Given the description of an element on the screen output the (x, y) to click on. 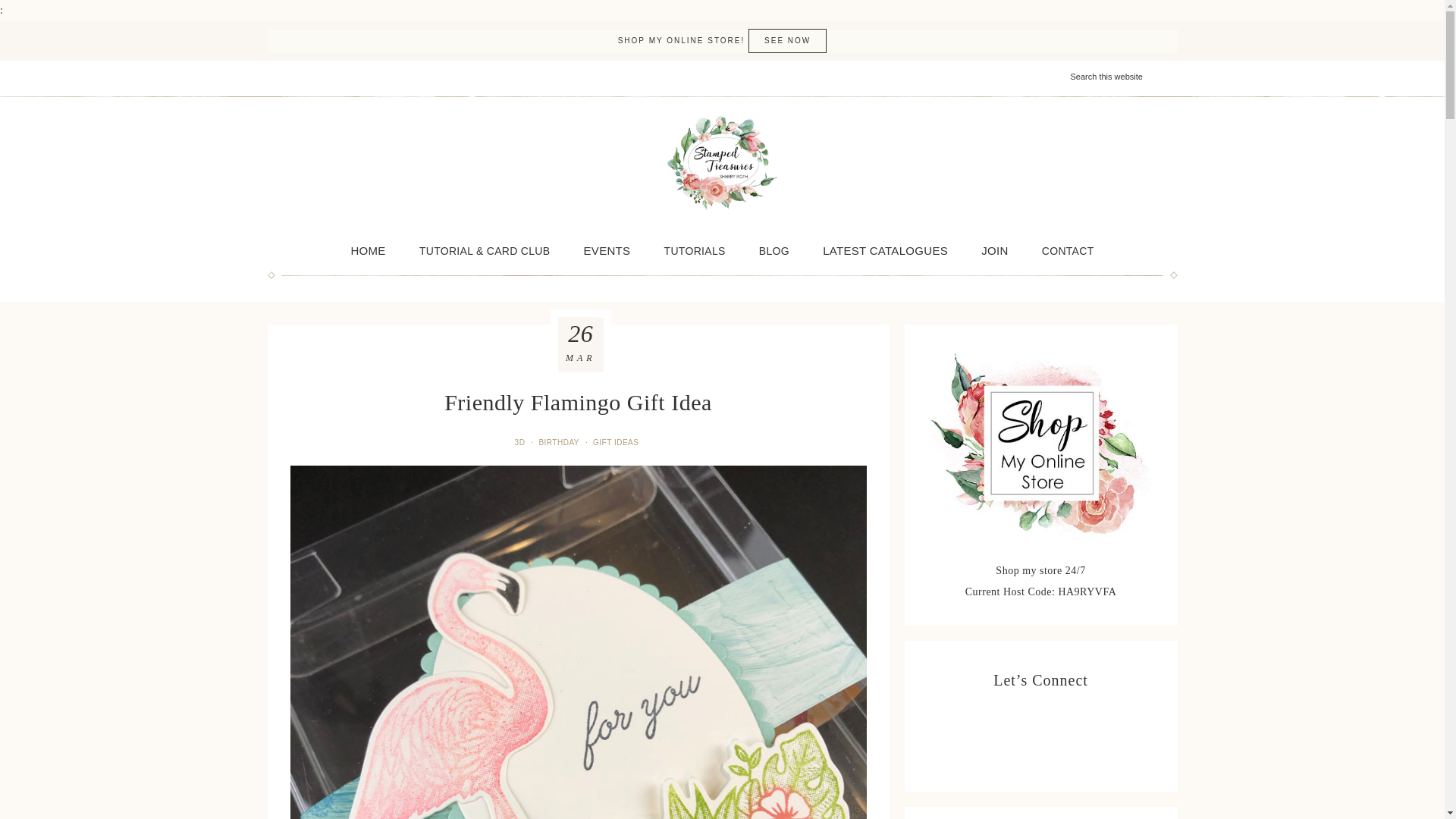
STAMPED TREASURES, SHERRY ROTH, STAMPIN' UP! DEMONSTRATOR (722, 163)
JOIN (994, 250)
BIRTHDAY (560, 442)
LATEST CATALOGUES (885, 250)
CONTACT (1067, 250)
HOME (367, 250)
BLOG (774, 250)
